Given the description of an element on the screen output the (x, y) to click on. 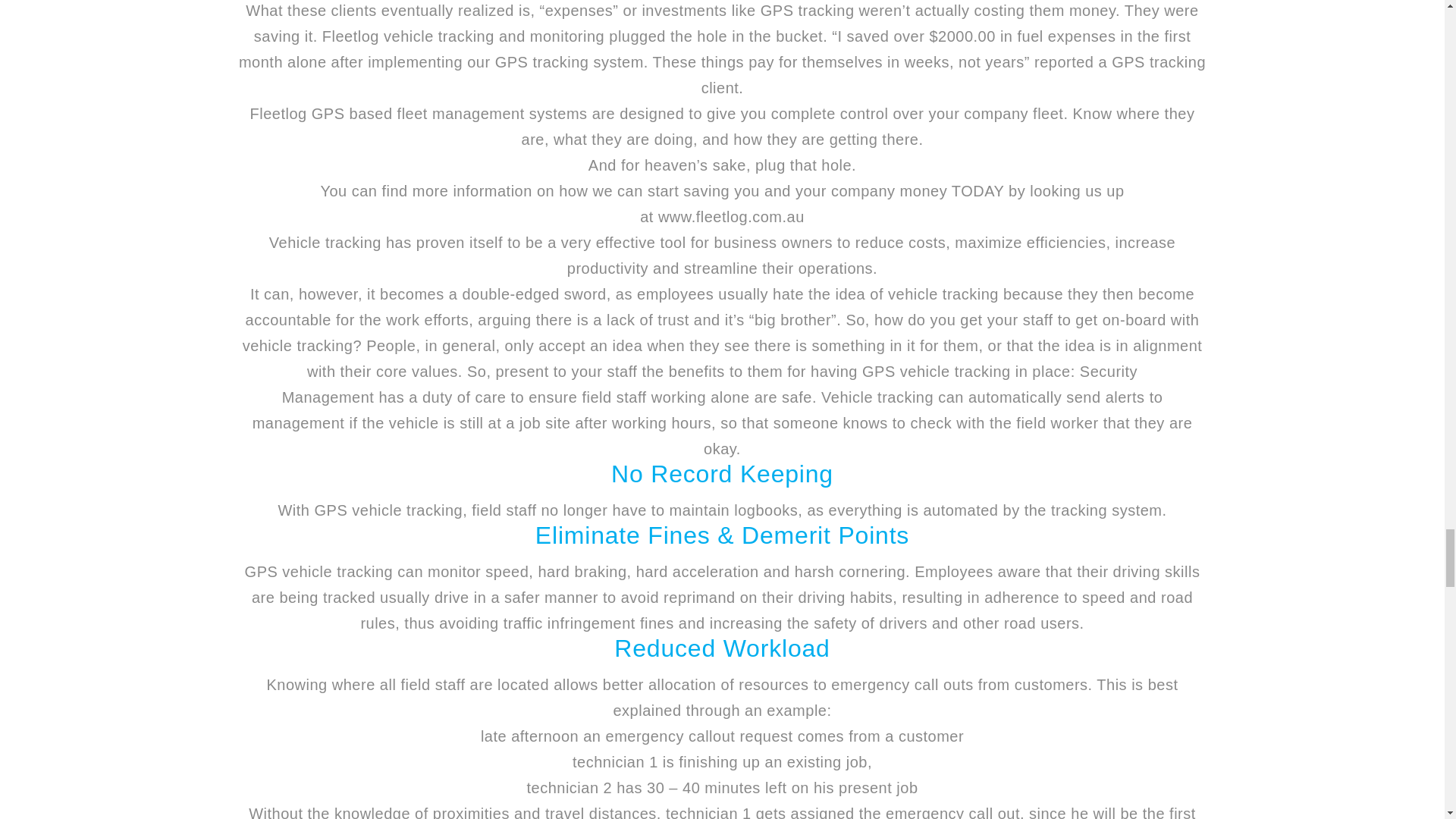
www.fleetlog.com.au (731, 216)
